Given the description of an element on the screen output the (x, y) to click on. 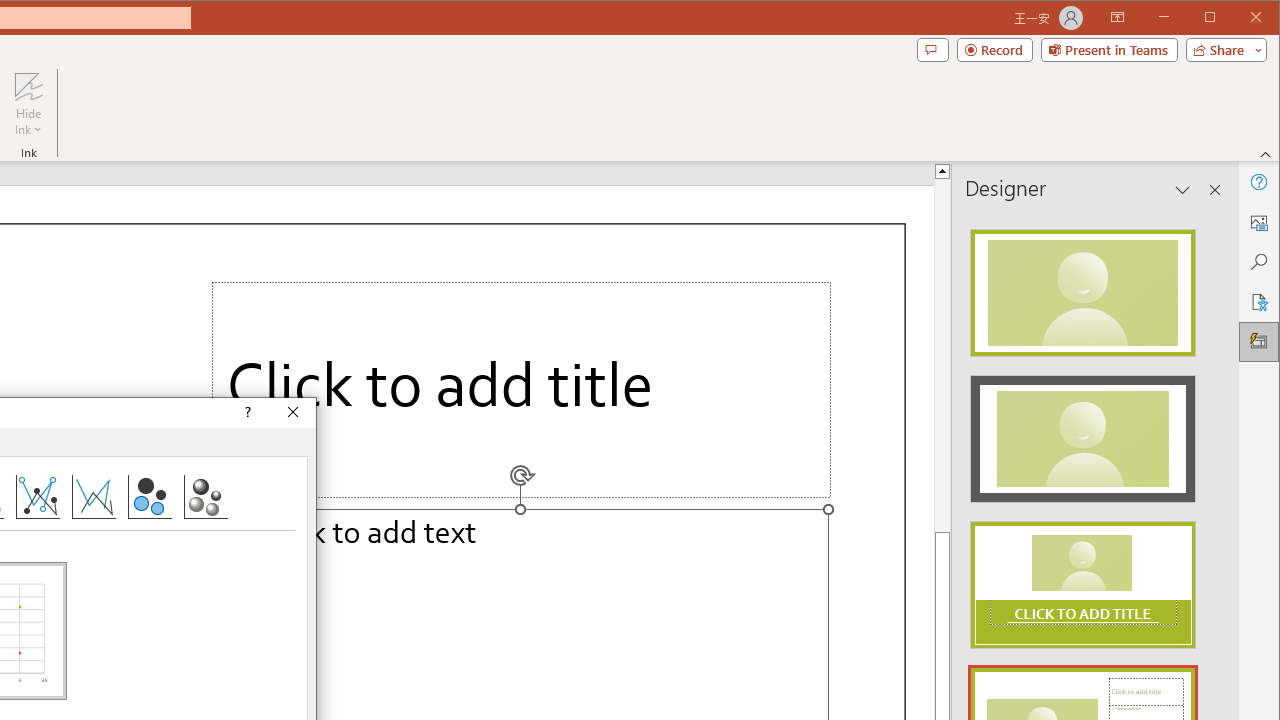
Class: NetUIImage (1083, 585)
Recommended Design: Design Idea (1082, 286)
Bubble (149, 496)
Maximize (1238, 18)
Task Pane Options (1183, 189)
Scatter with Straight Lines (93, 496)
Alt Text (1258, 221)
Designer (1258, 341)
